Given the description of an element on the screen output the (x, y) to click on. 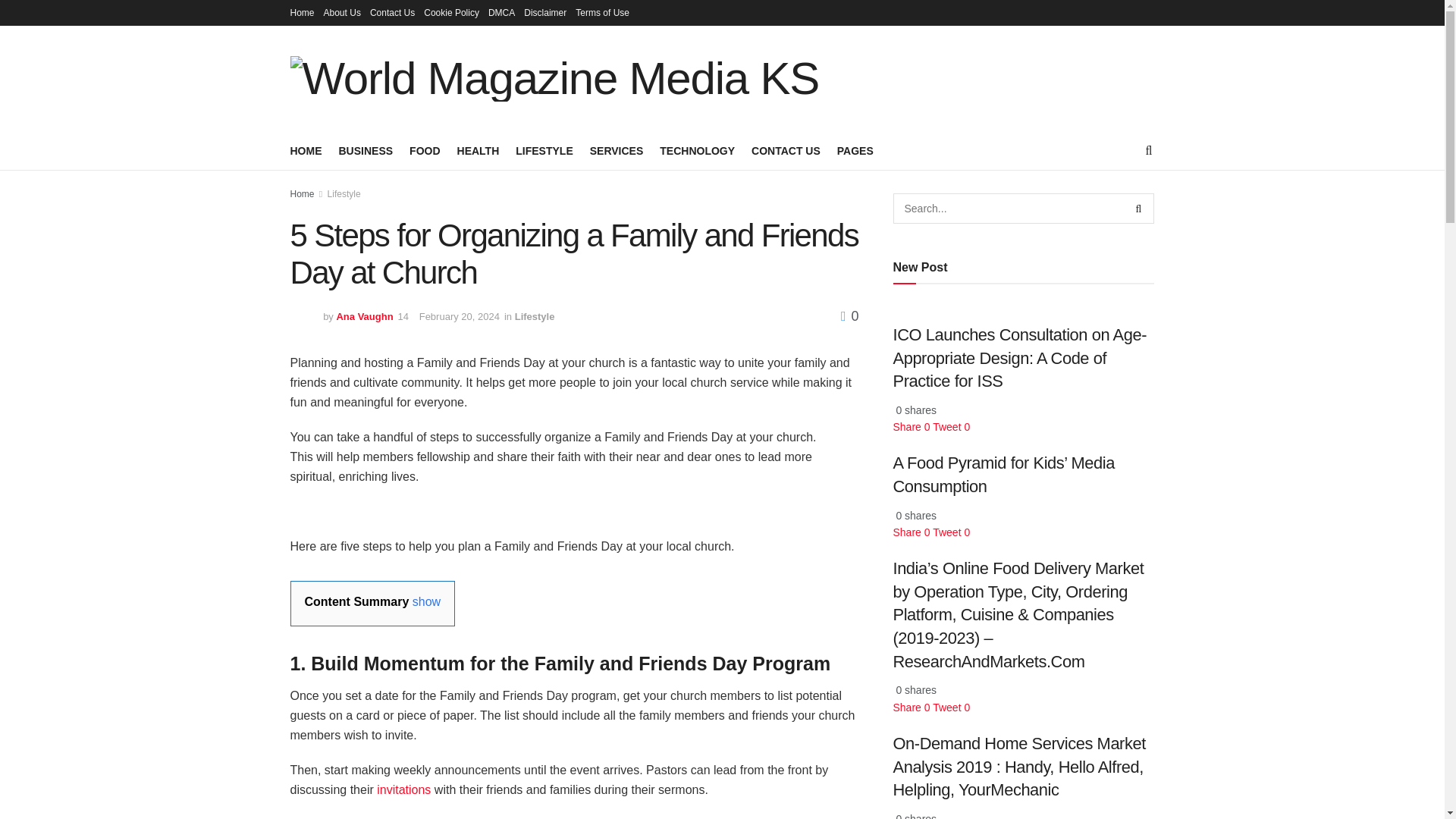
Home (301, 12)
TECHNOLOGY (697, 150)
LIFESTYLE (543, 150)
About Us (342, 12)
SERVICES (616, 150)
Terms of Use (601, 12)
HEALTH (478, 150)
DMCA (501, 12)
Disclaimer (545, 12)
BUSINESS (365, 150)
FOOD (424, 150)
HOME (305, 150)
Cookie Policy (451, 12)
Contact Us (391, 12)
